Given the description of an element on the screen output the (x, y) to click on. 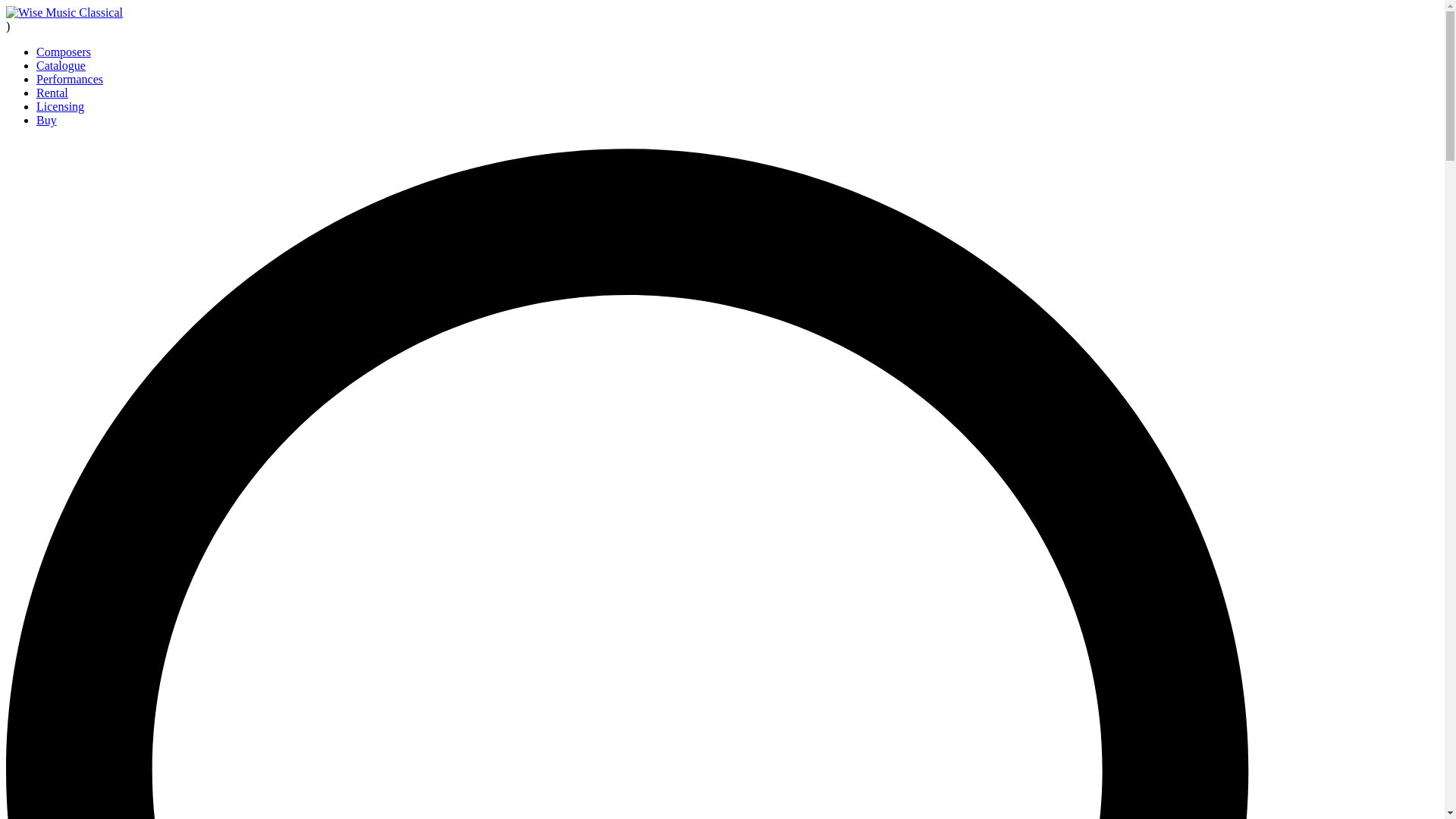
Performances (69, 78)
Rental (52, 92)
Catalogue (60, 65)
Licensing (60, 106)
Buy (46, 119)
Composers (63, 51)
